Given the description of an element on the screen output the (x, y) to click on. 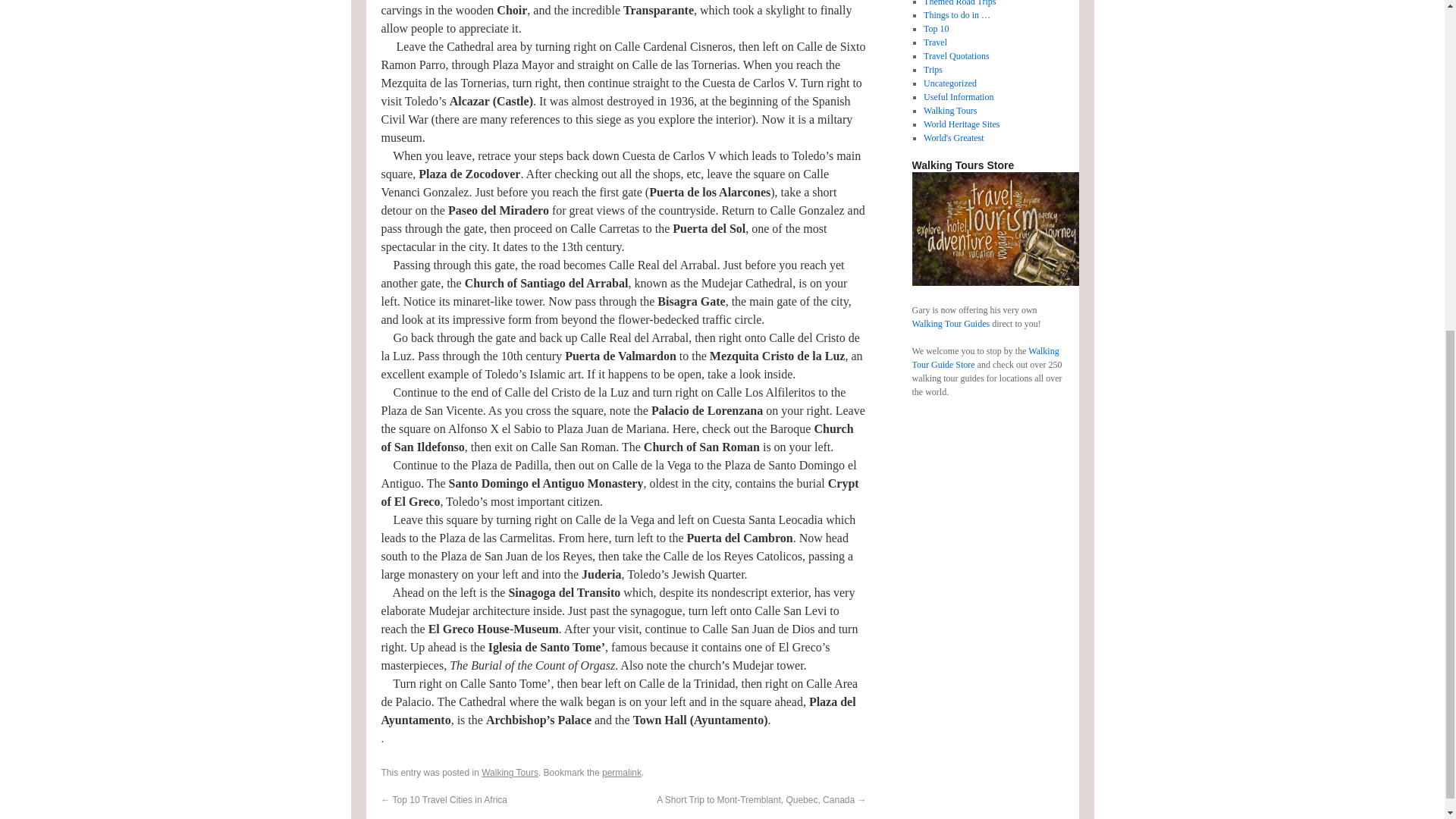
Themed Road Trips (959, 3)
Travel (935, 41)
Permalink to Walking Tour of Toledo, Spain (622, 772)
Top 10 (936, 28)
Travel Quotations (956, 55)
Walking Tours (509, 772)
Trips (932, 69)
Uncategorized (949, 82)
permalink (622, 772)
